Given the description of an element on the screen output the (x, y) to click on. 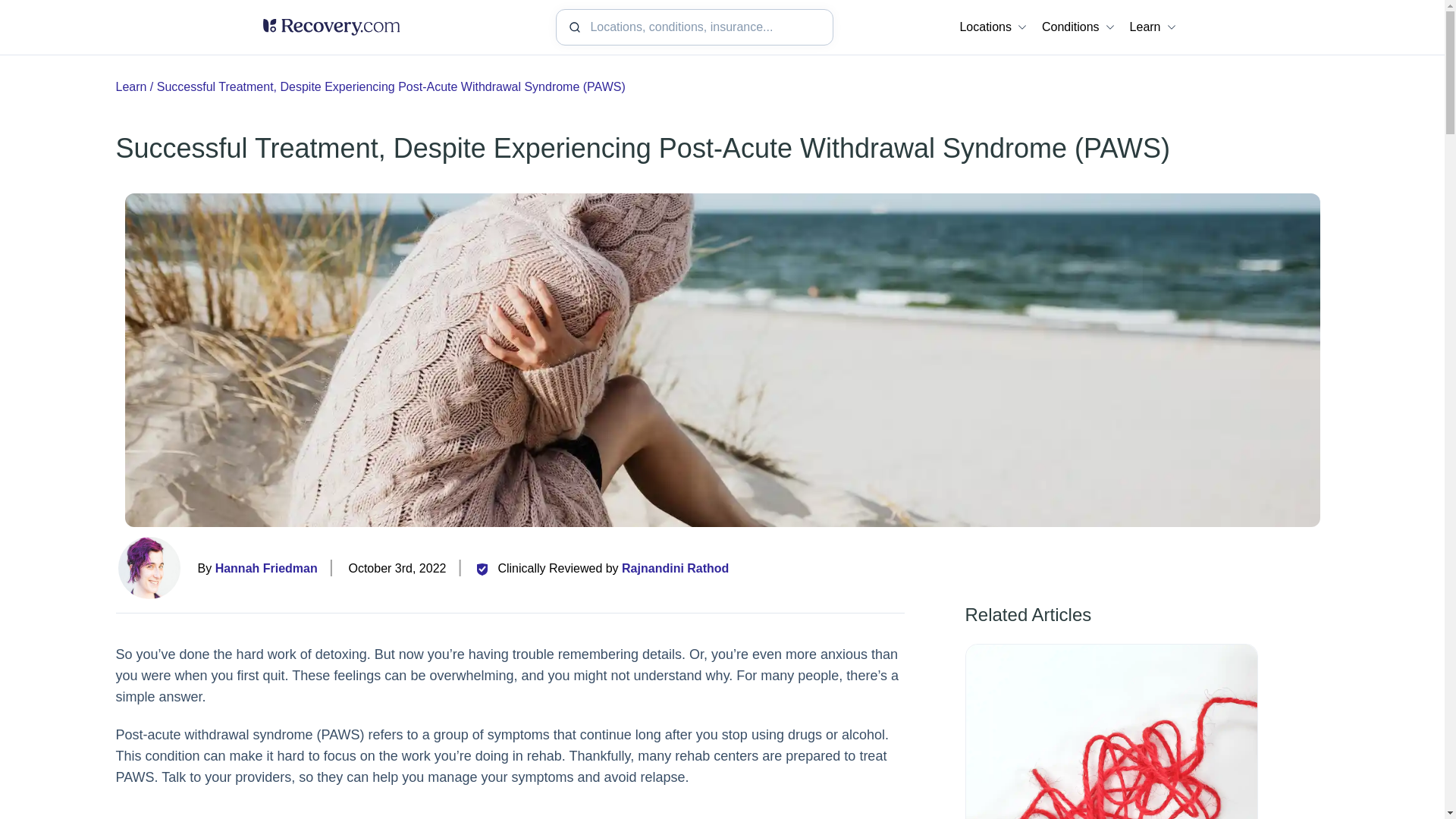
Locations, conditions, insurance... (694, 26)
Recovery.com Home (330, 27)
